Given the description of an element on the screen output the (x, y) to click on. 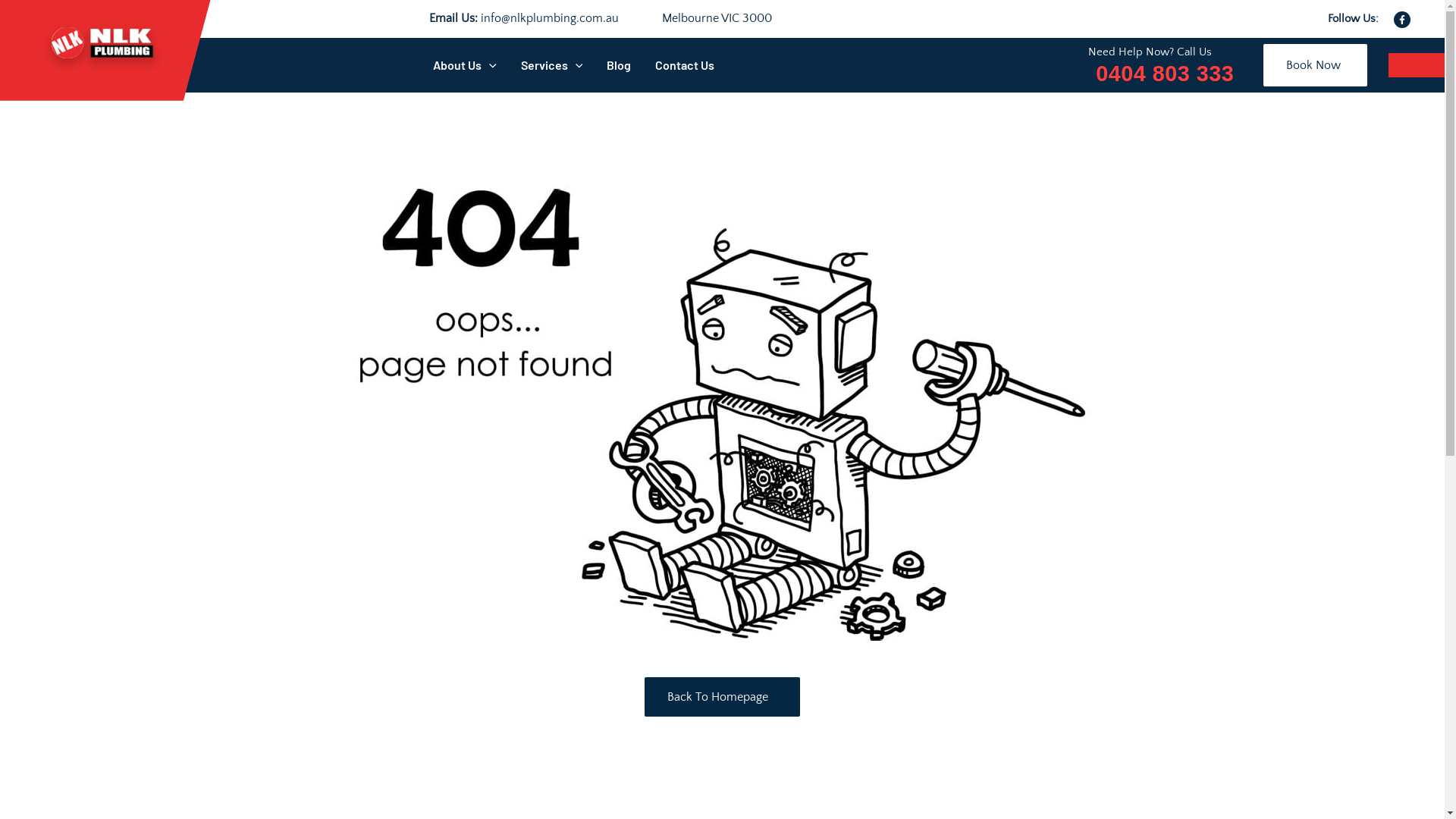
Book Now Element type: text (1315, 64)
Back To Homepage Element type: text (722, 696)
About Us Element type: text (464, 64)
0404 803 333 Element type: text (1160, 73)
Back To Homepage Element type: text (722, 696)
Contact Us Element type: text (684, 64)
Blog Element type: text (618, 64)
Services Element type: text (551, 64)
Email Us: info@nlkplumbing.com.au Element type: text (523, 18)
Melbourne VIC 3000 Element type: text (713, 18)
